Given the description of an element on the screen output the (x, y) to click on. 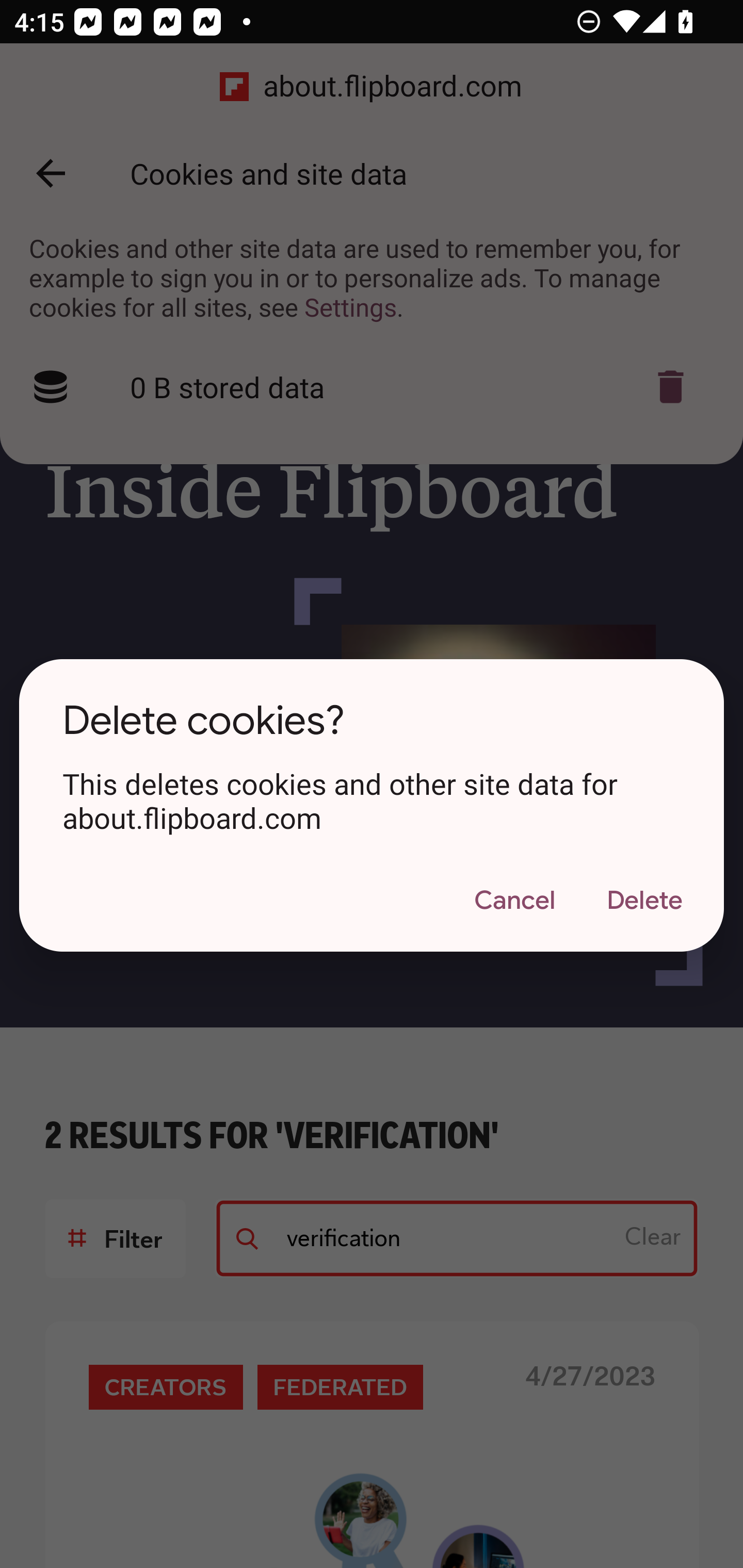
Cancel (514, 900)
Delete (644, 900)
